Given the description of an element on the screen output the (x, y) to click on. 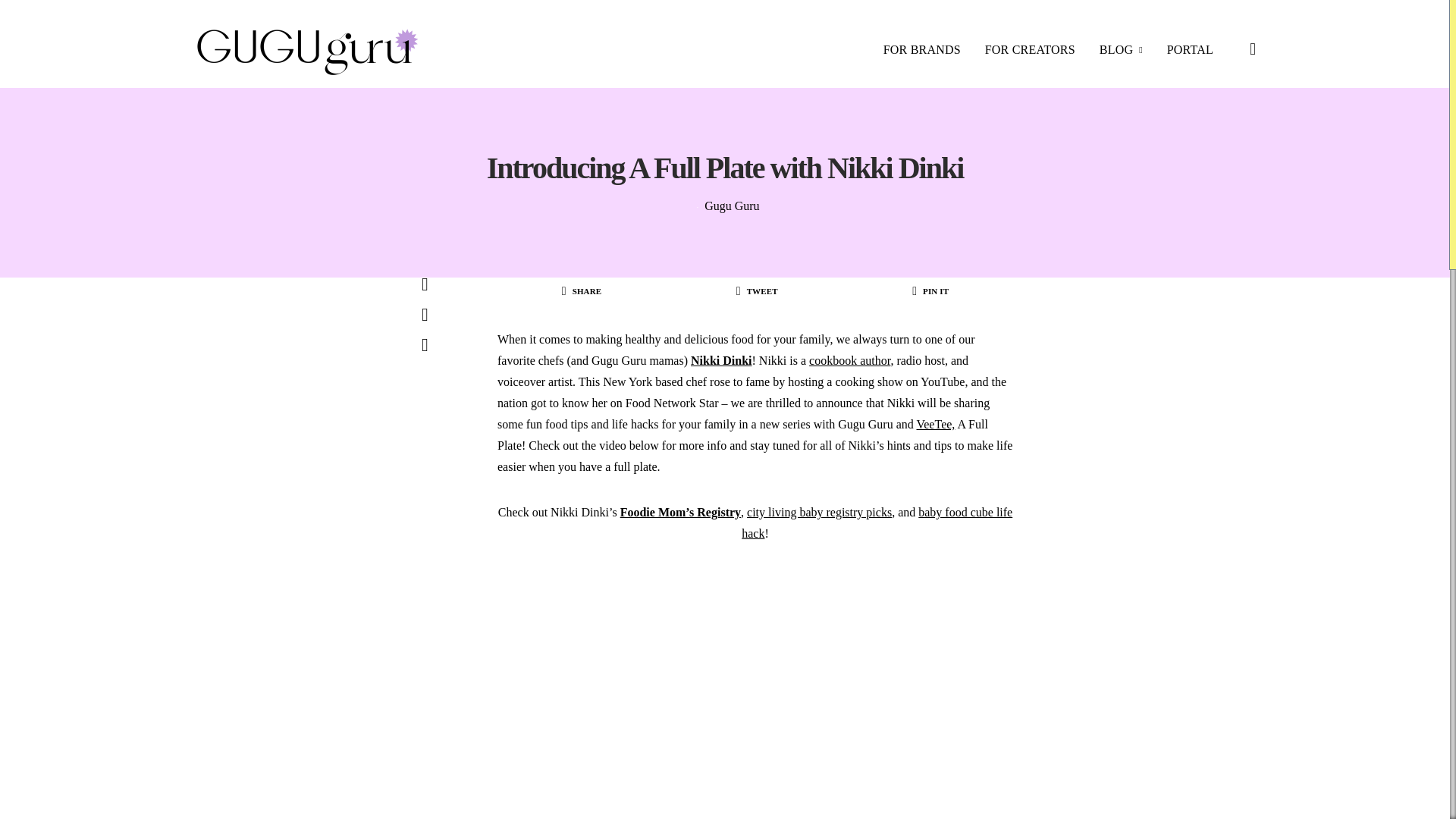
FOR BRANDS (921, 49)
FOR CREATORS (1030, 49)
View all posts by Gugu Guru (731, 205)
